Given the description of an element on the screen output the (x, y) to click on. 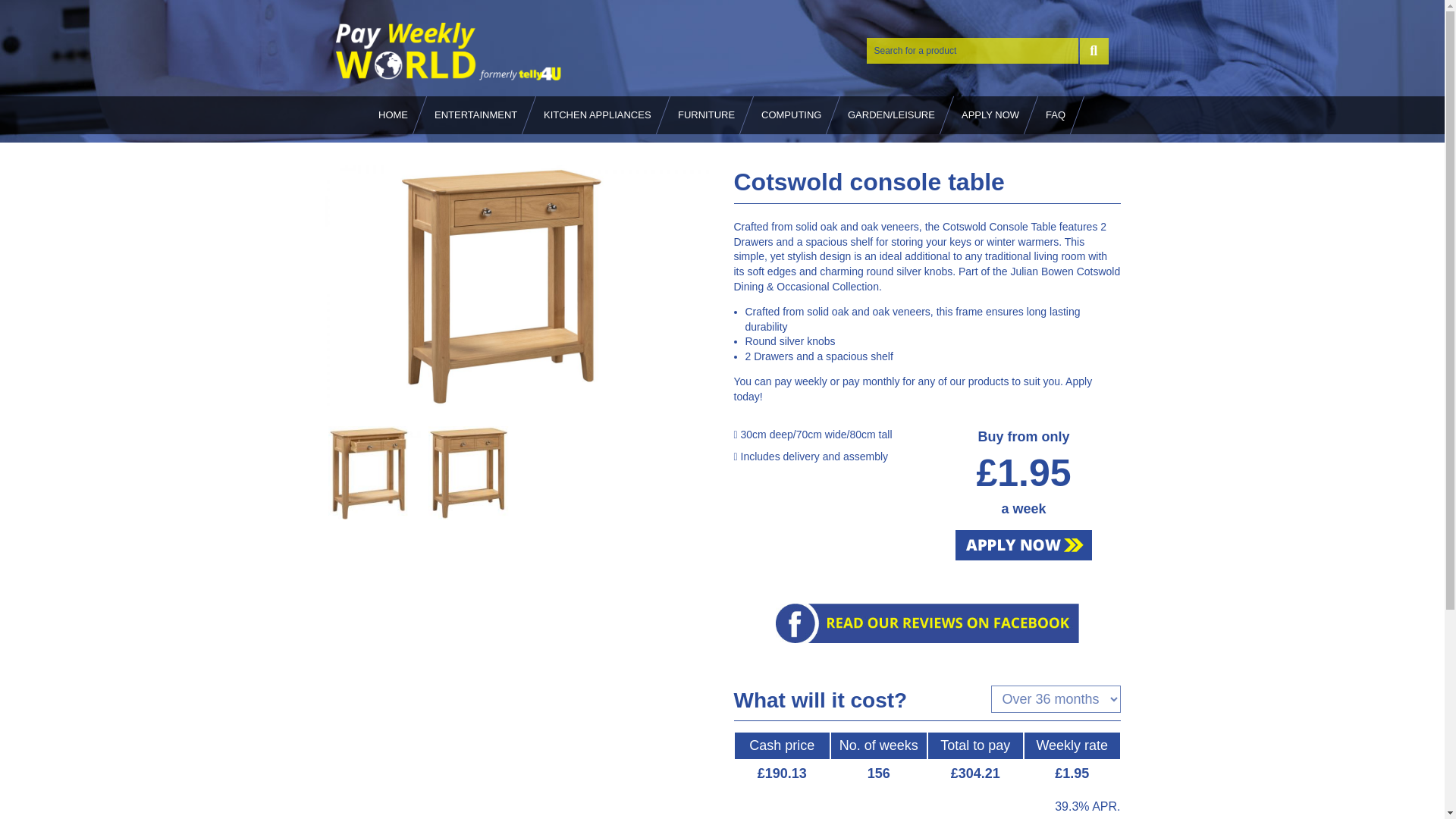
Search for a product (972, 50)
Search for a product (972, 50)
HOME (392, 115)
FAQ (1055, 115)
ENTERTAINMENT (475, 115)
FURNITURE (705, 115)
Pay Weekly World (448, 51)
COMPUTING (790, 115)
APPLY NOW (990, 115)
KITCHEN APPLIANCES (597, 115)
